Given the description of an element on the screen output the (x, y) to click on. 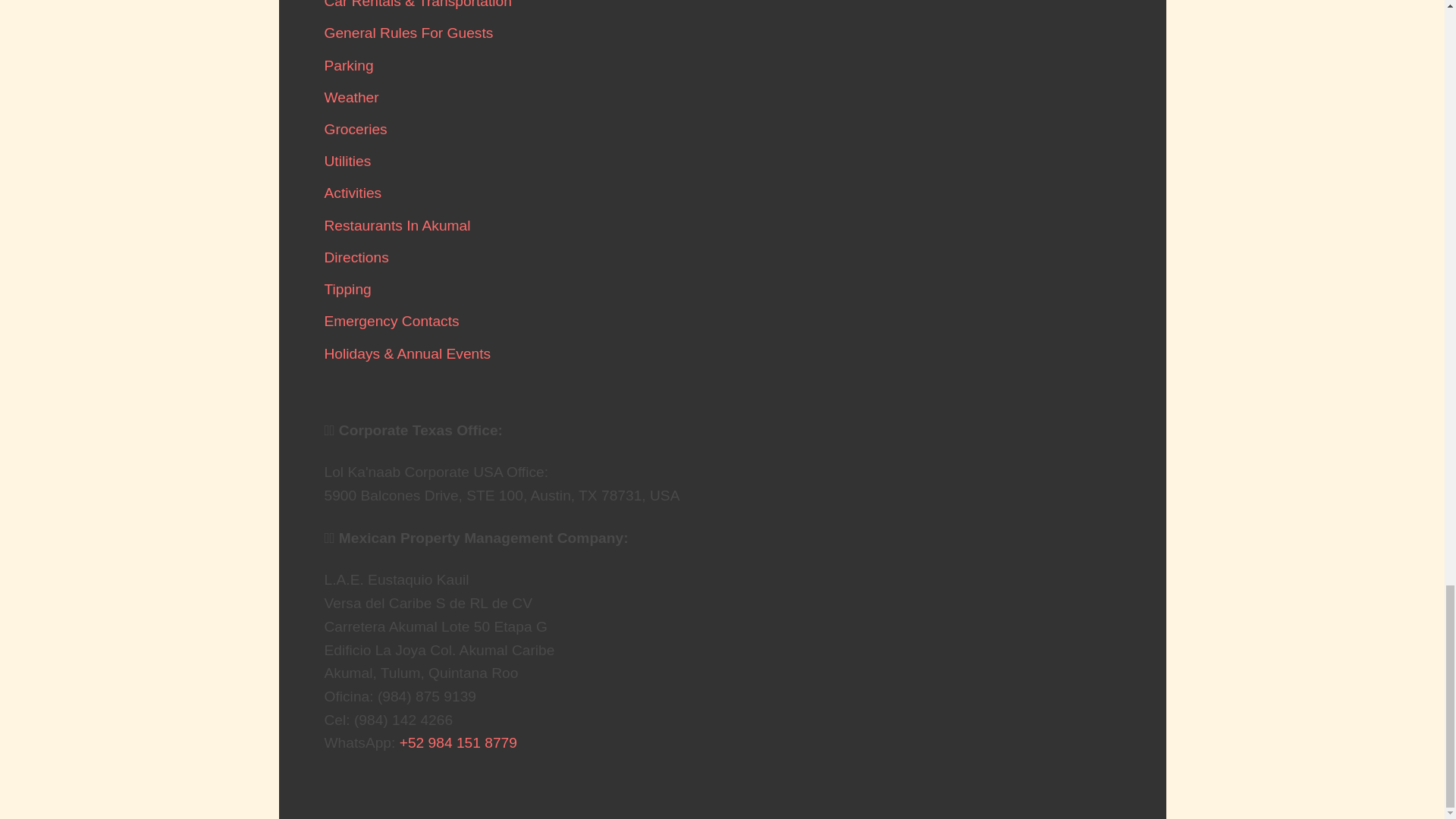
General Rules For Guests (408, 32)
Utilities (347, 160)
Groceries (355, 129)
Weather (351, 97)
Parking (349, 65)
Activities (352, 192)
